Given the description of an element on the screen output the (x, y) to click on. 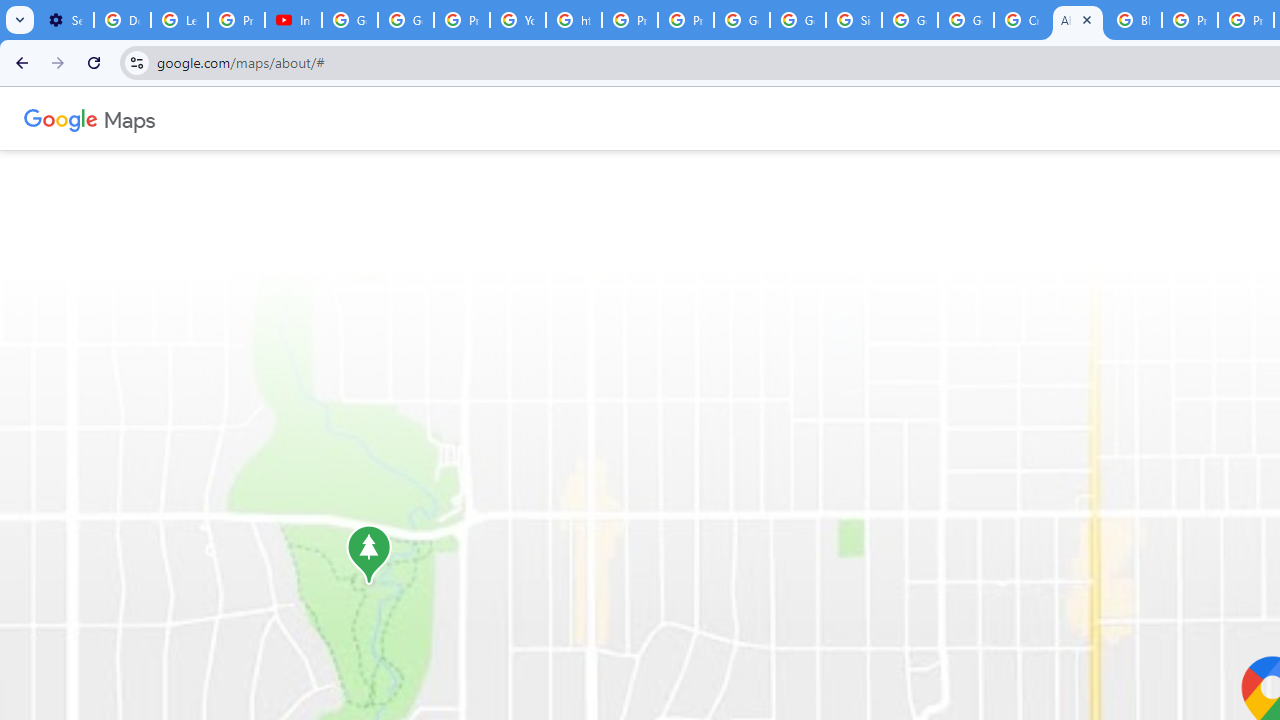
Maps (129, 118)
Privacy Help Center - Policies Help (1190, 20)
Skip to Content (264, 115)
Delete photos & videos - Computer - Google Photos Help (122, 20)
Blogger Policies and Guidelines - Transparency Center (1133, 20)
